Given the description of an element on the screen output the (x, y) to click on. 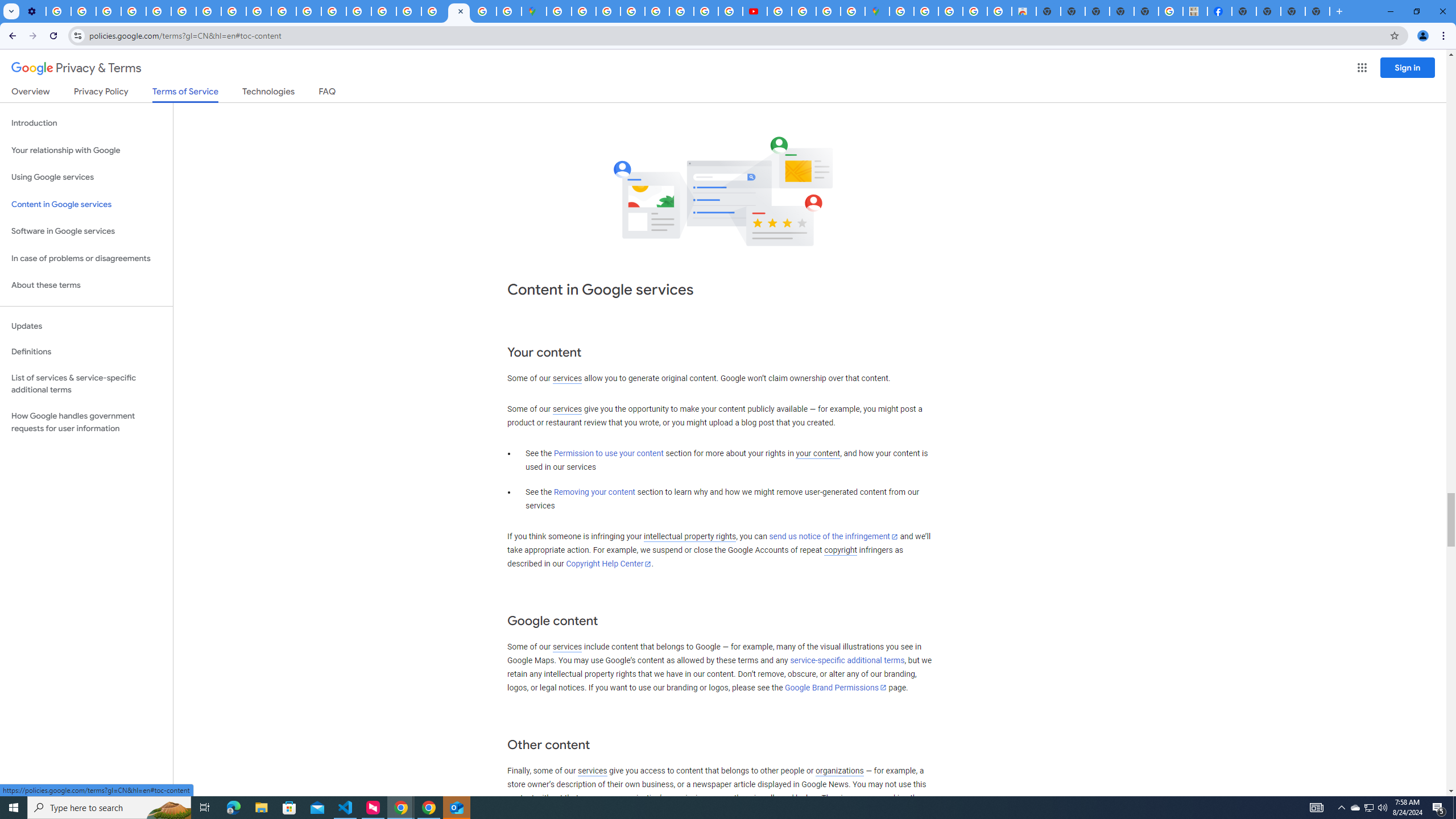
intellectual property rights (689, 536)
Sign in - Google Accounts (558, 11)
https://scholar.google.com/ (308, 11)
About these terms (86, 284)
service-specific additional terms (847, 660)
